Given the description of an element on the screen output the (x, y) to click on. 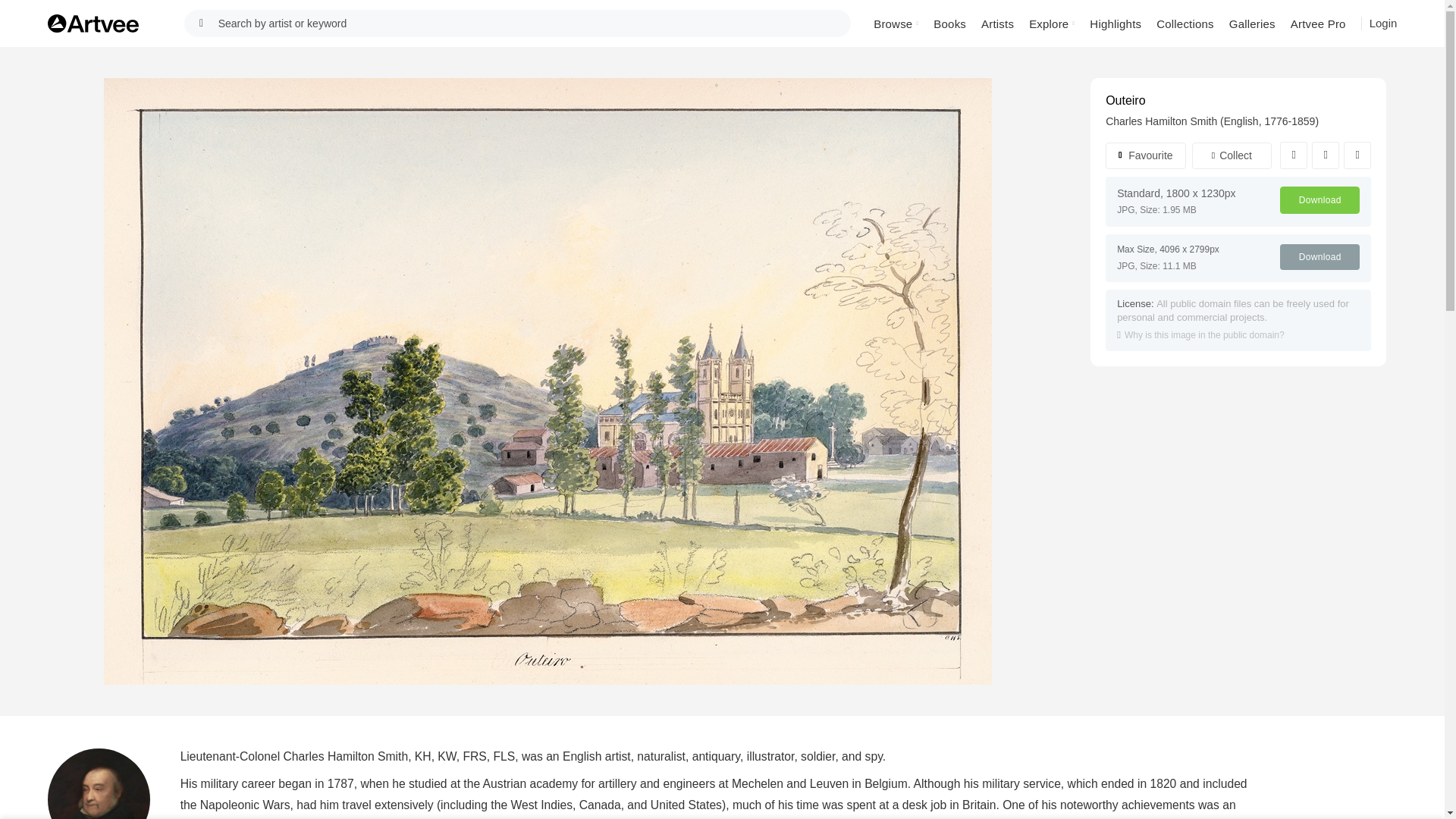
Download (1319, 199)
Highlights (1114, 23)
Outeiro (1124, 100)
Twitter (1325, 154)
Books (950, 23)
Collect (1232, 155)
Collections (1184, 23)
Galleries (1251, 23)
Download (1319, 257)
Login (1383, 23)
Artvee Pro (1318, 23)
Favourite (1145, 155)
Browse (896, 23)
Charles Hamilton Smith (1161, 121)
SEARCH (201, 22)
